Given the description of an element on the screen output the (x, y) to click on. 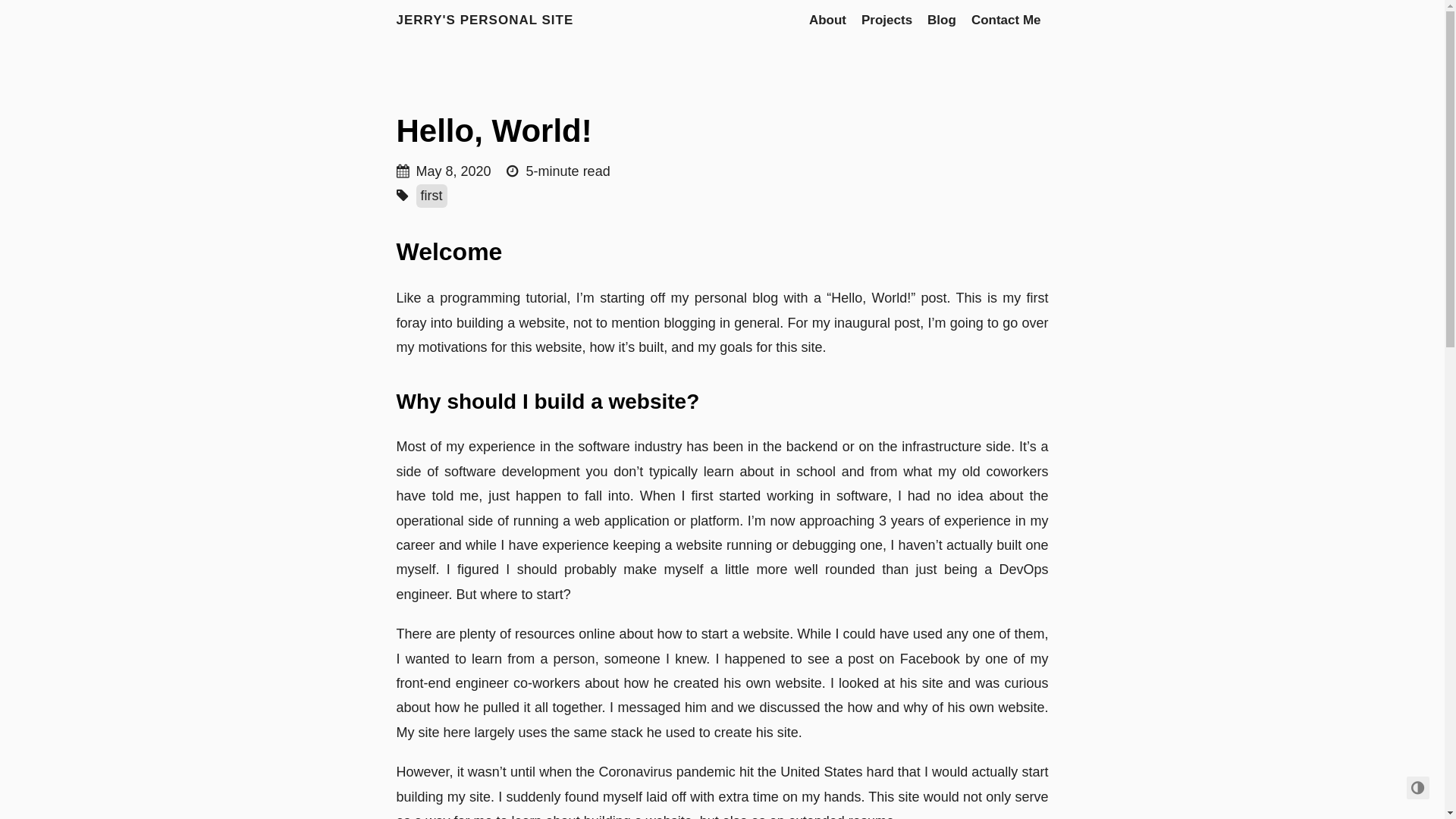
first Element type: text (431, 195)
Blog Element type: text (941, 19)
Projects Element type: text (886, 19)
About Element type: text (827, 19)
Hello, World! Element type: text (493, 130)
Contact Me Element type: text (1006, 19)
JERRY'S PERSONAL SITE Element type: text (484, 19)
